Given the description of an element on the screen output the (x, y) to click on. 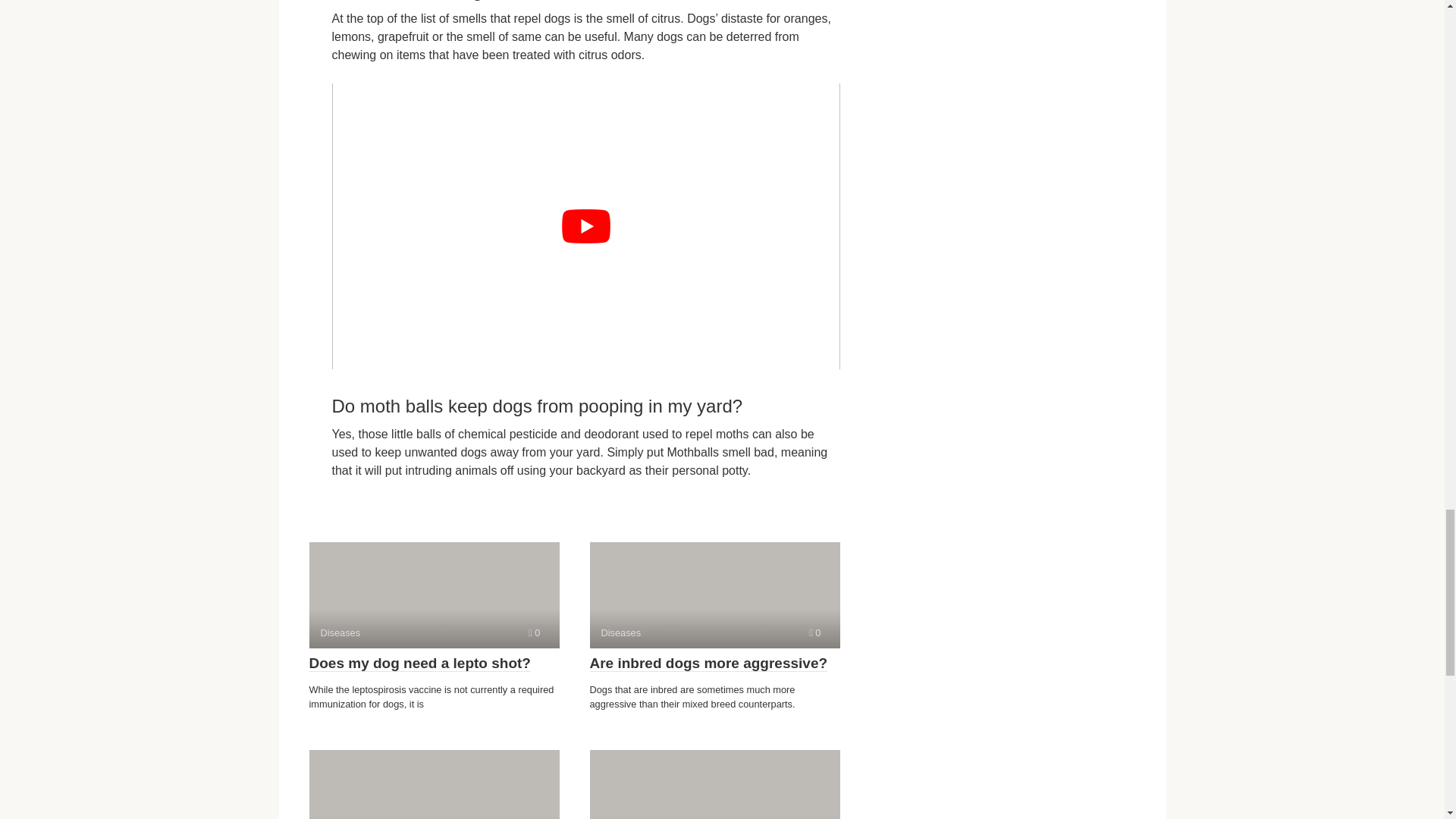
Does my dog need a lepto shot? (419, 663)
Comments (534, 632)
Comments (433, 784)
Are inbred dogs more aggressive? (714, 595)
